Given the description of an element on the screen output the (x, y) to click on. 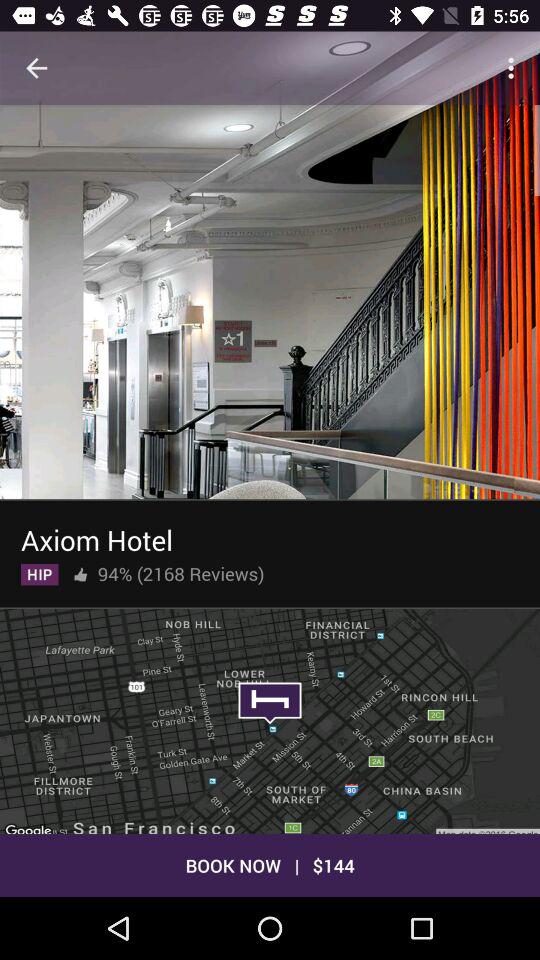
scroll to 94% (2168 reviews) (180, 569)
